Given the description of an element on the screen output the (x, y) to click on. 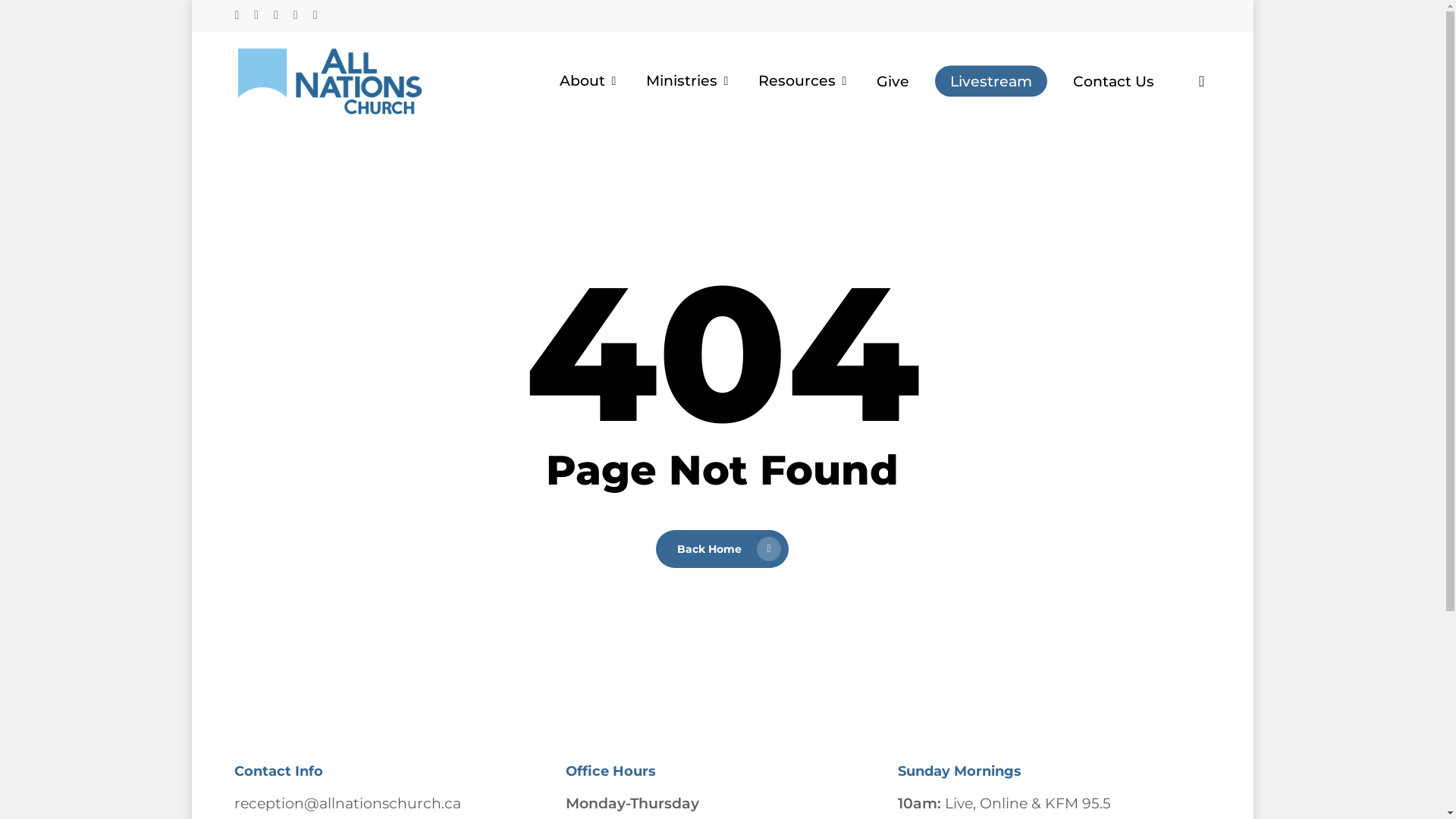
Livestream Element type: text (990, 81)
Give Element type: text (892, 81)
Contact Us Element type: text (1112, 81)
Ministries Element type: text (689, 80)
reception@allnationschurch.ca Element type: text (346, 803)
youtube Element type: text (256, 15)
facebook Element type: text (236, 15)
instagram Element type: text (275, 15)
phone Element type: text (295, 15)
Resources Element type: text (804, 80)
Back Home Element type: text (721, 548)
About Element type: text (589, 80)
search Element type: text (1201, 80)
email Element type: text (315, 15)
